Given the description of an element on the screen output the (x, y) to click on. 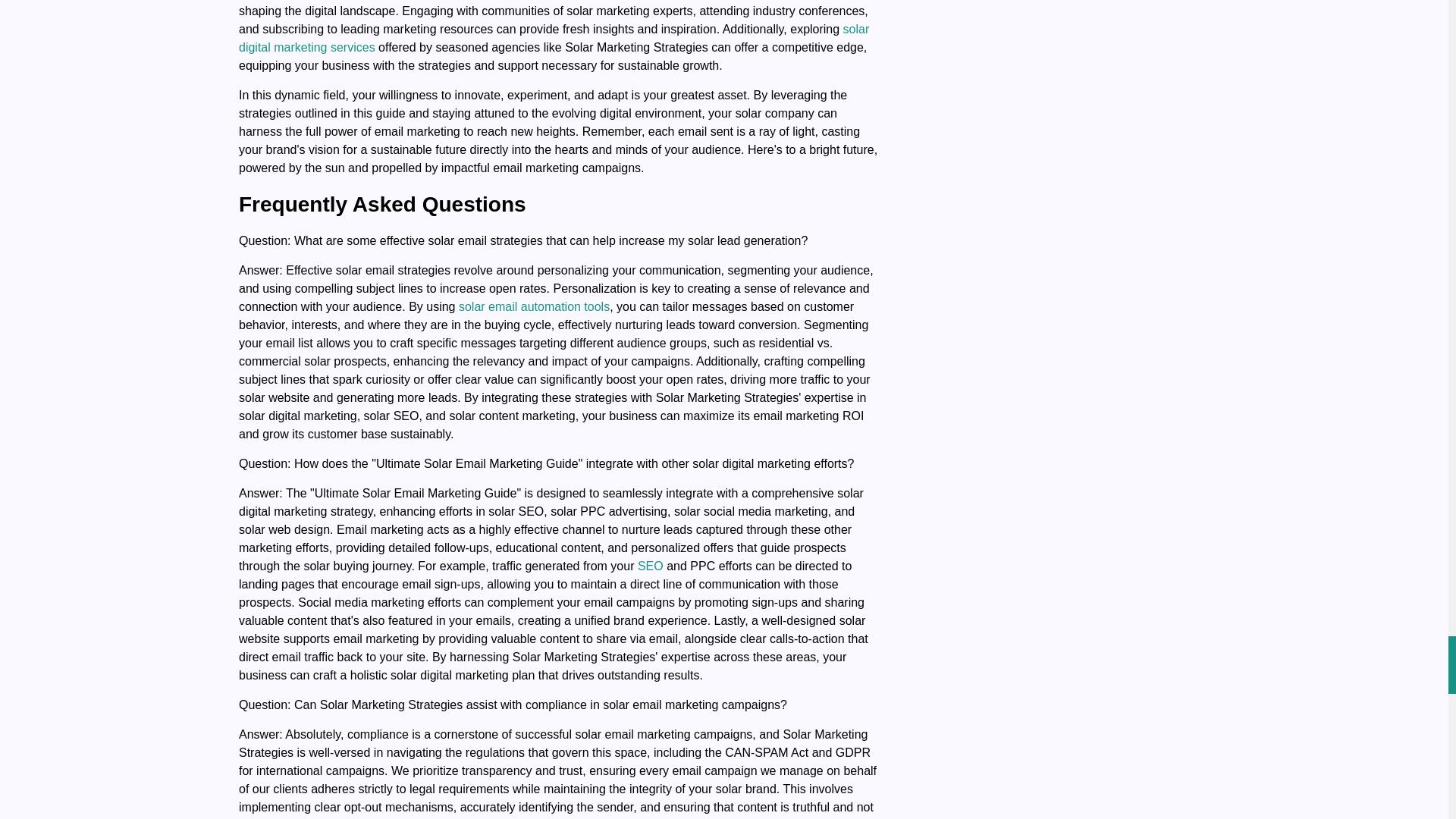
solar digital marketing services (553, 38)
solar email automation tools (534, 306)
SEO (650, 565)
